Given the description of an element on the screen output the (x, y) to click on. 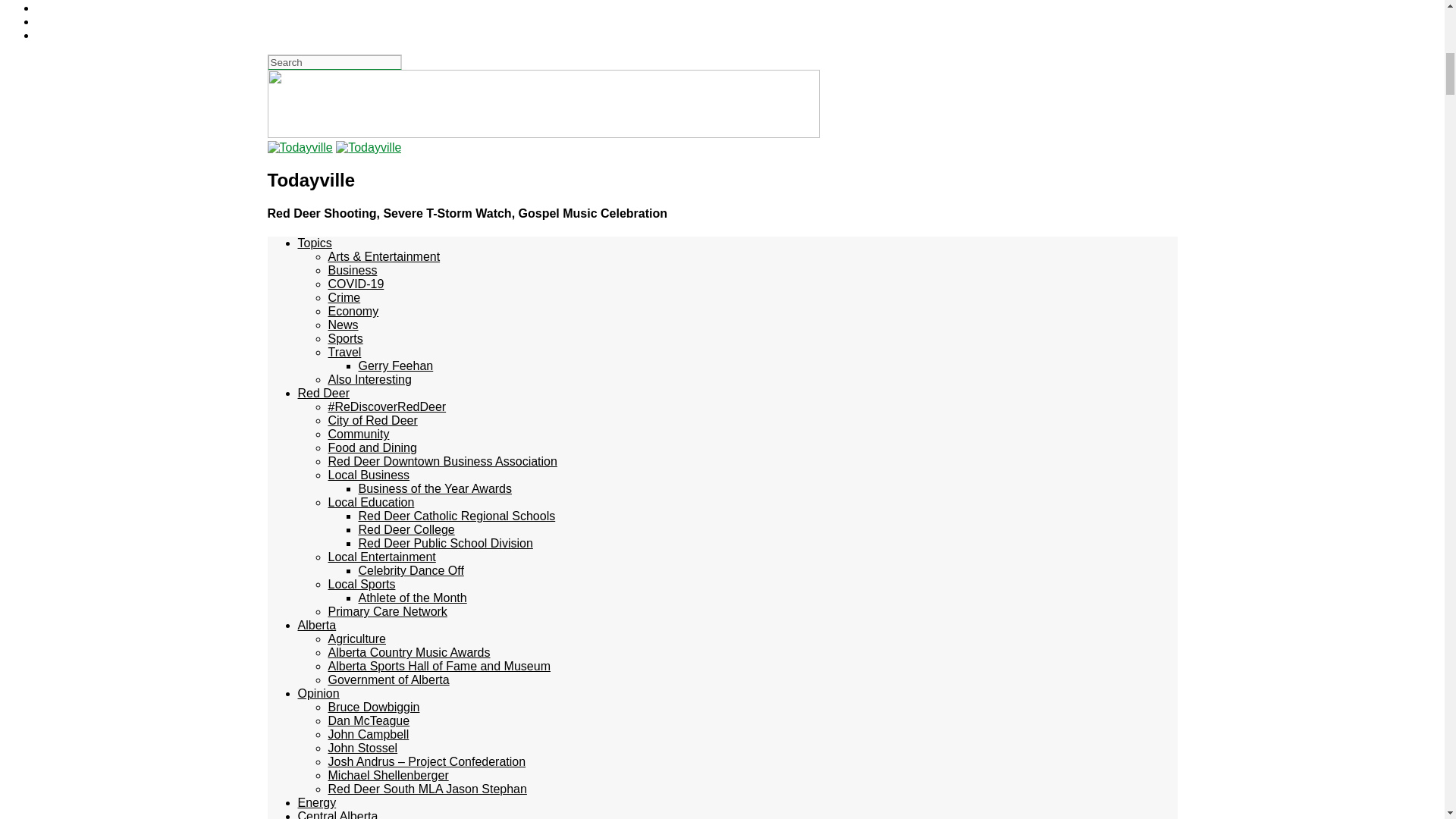
Search (333, 61)
